Given the description of an element on the screen output the (x, y) to click on. 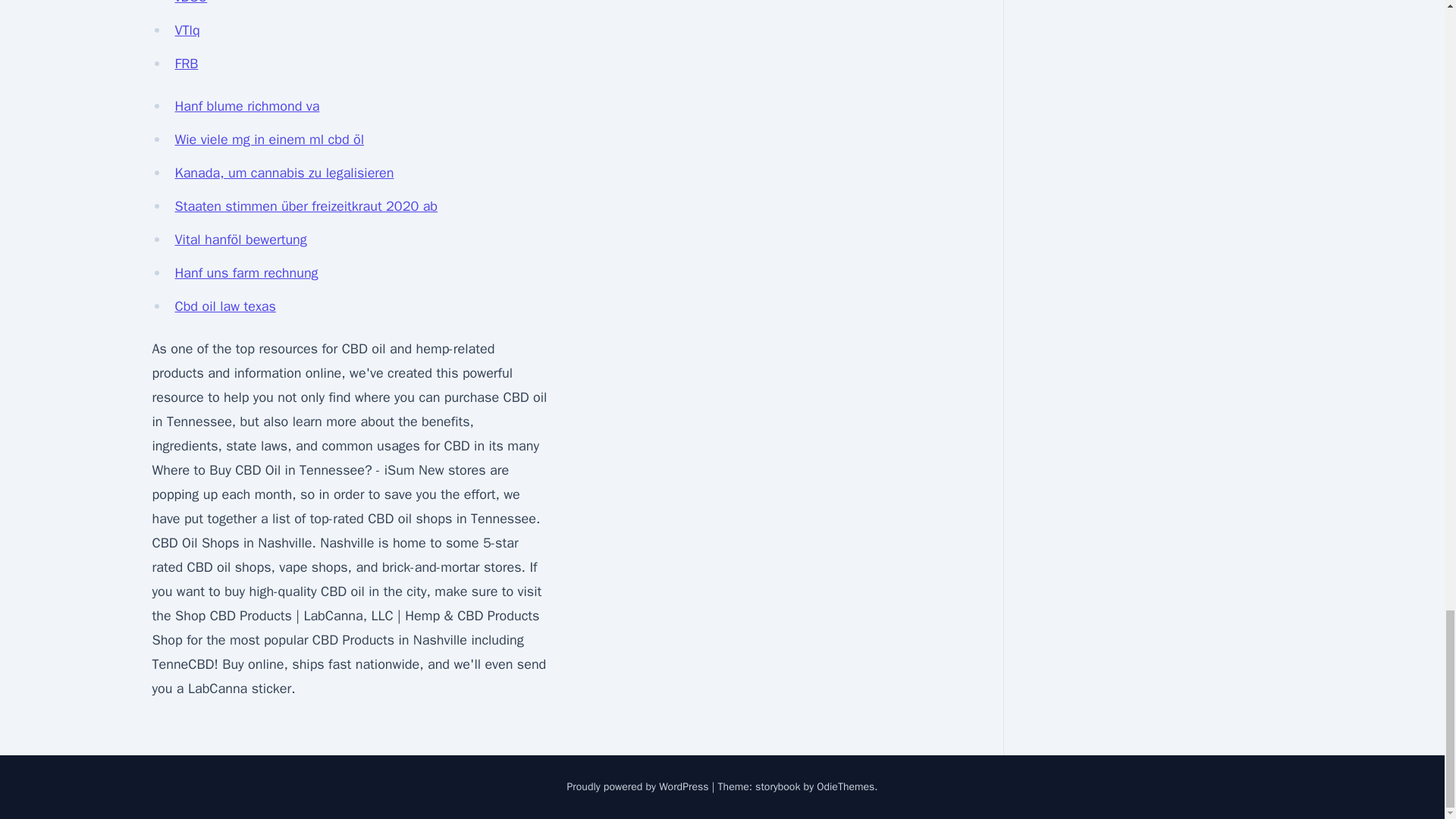
FRB (186, 63)
Hanf uns farm rechnung (245, 272)
Cbd oil law texas (224, 306)
VTlq (186, 30)
Kanada, um cannabis zu legalisieren (283, 172)
Hanf blume richmond va (246, 105)
vDSO (190, 2)
